Given the description of an element on the screen output the (x, y) to click on. 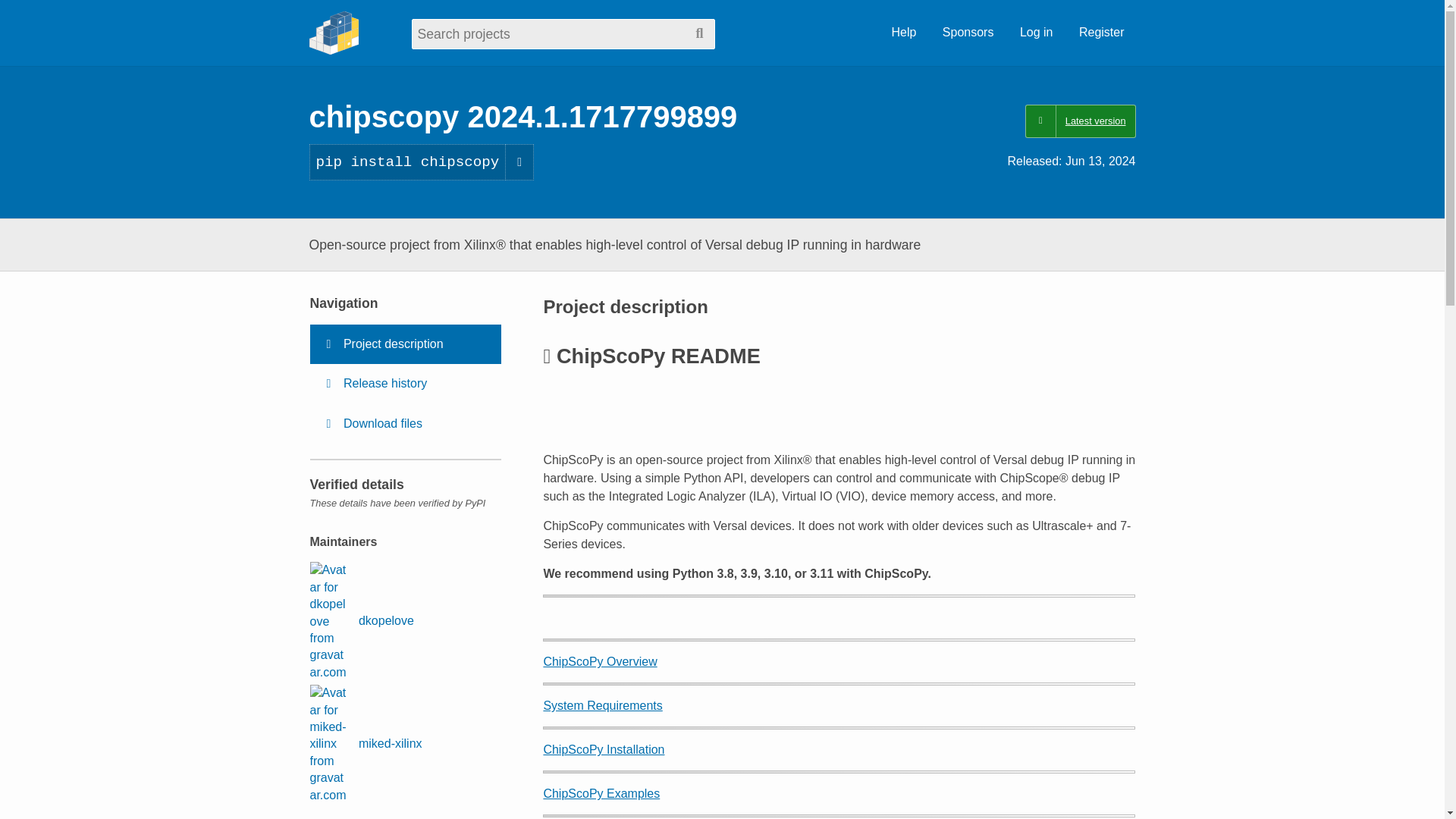
Latest version (1080, 121)
miked-xilinx (365, 743)
Register (1101, 32)
Search (699, 33)
Sponsors (968, 32)
ChipScoPy Overview (599, 661)
Download files (404, 423)
Project description (404, 343)
Release history (404, 383)
